Given the description of an element on the screen output the (x, y) to click on. 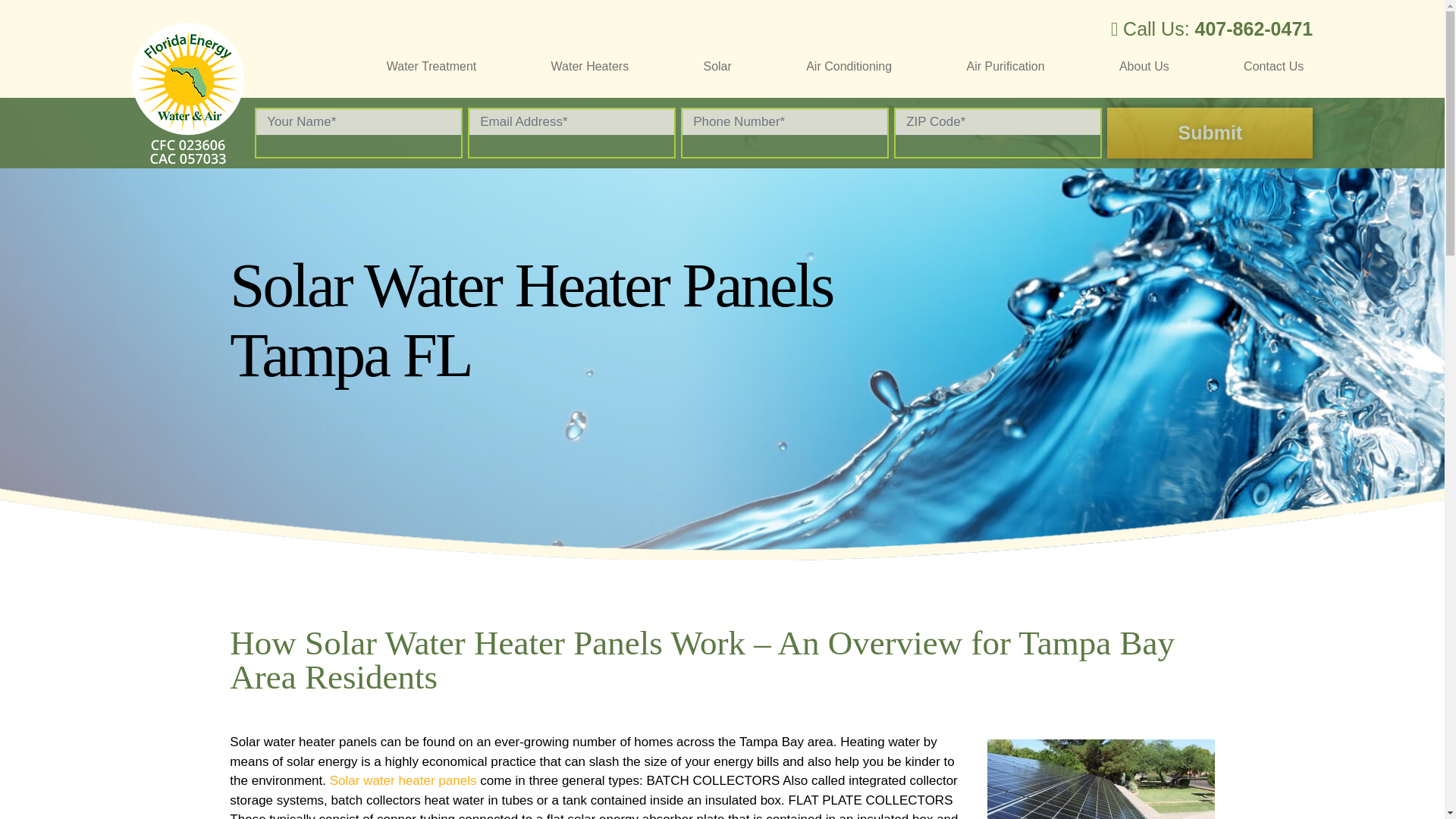
About Us (1144, 65)
Air Conditioning (848, 65)
Contact Us (1272, 65)
Water Heaters (590, 65)
Solar water heater panels (403, 780)
Solar Water Heater Panels Tampa FL (1100, 779)
Call Us: 407-862-0471 (1211, 29)
Air Purification (1005, 65)
Water Treatment (431, 65)
Solar (716, 65)
Submit (1209, 132)
